Given the description of an element on the screen output the (x, y) to click on. 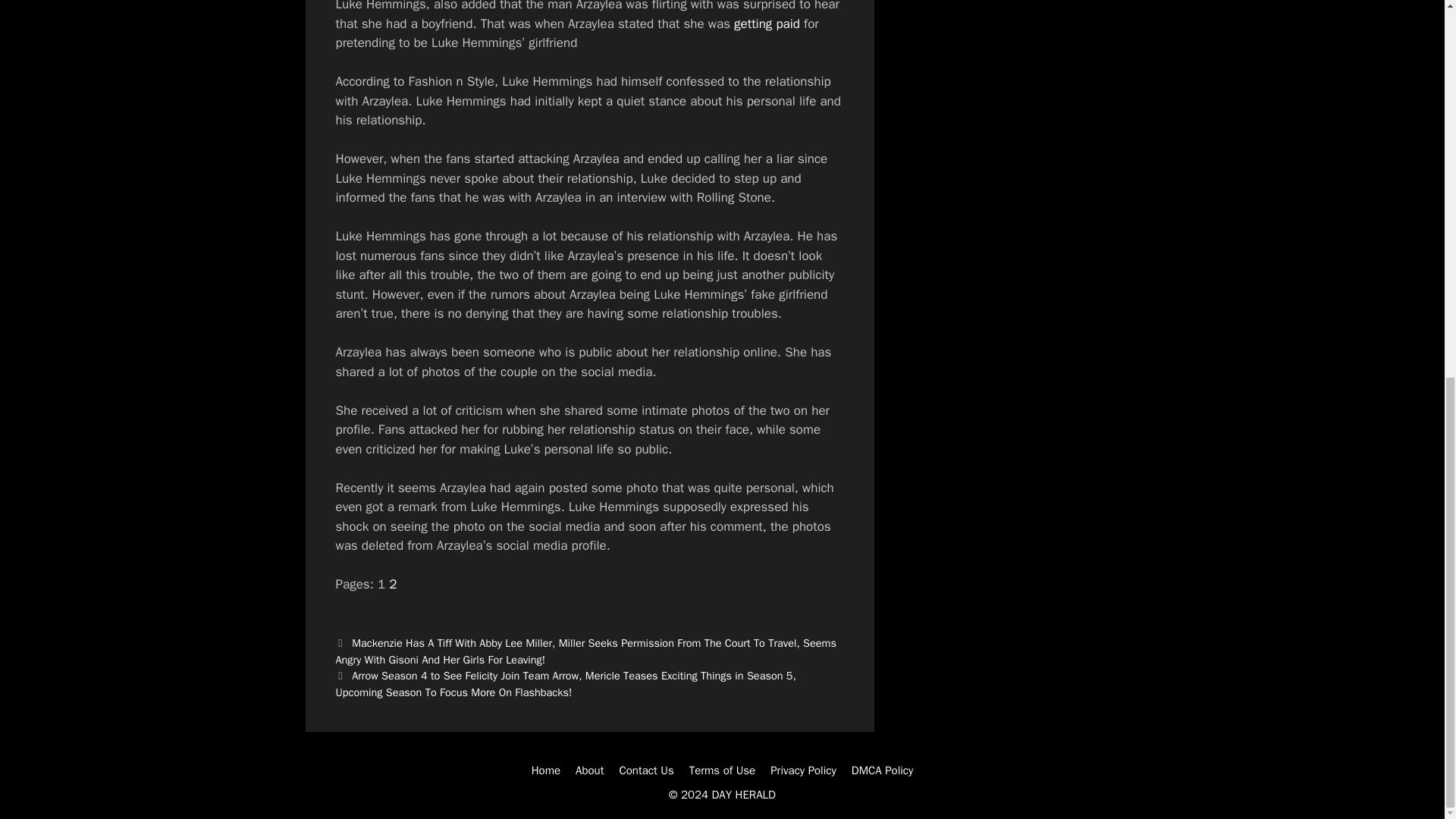
About (589, 770)
Privacy Policy (802, 770)
Contact Us (645, 770)
Terms of Use (721, 770)
getting paid (766, 23)
Home (545, 770)
DMCA Policy (882, 770)
